Given the description of an element on the screen output the (x, y) to click on. 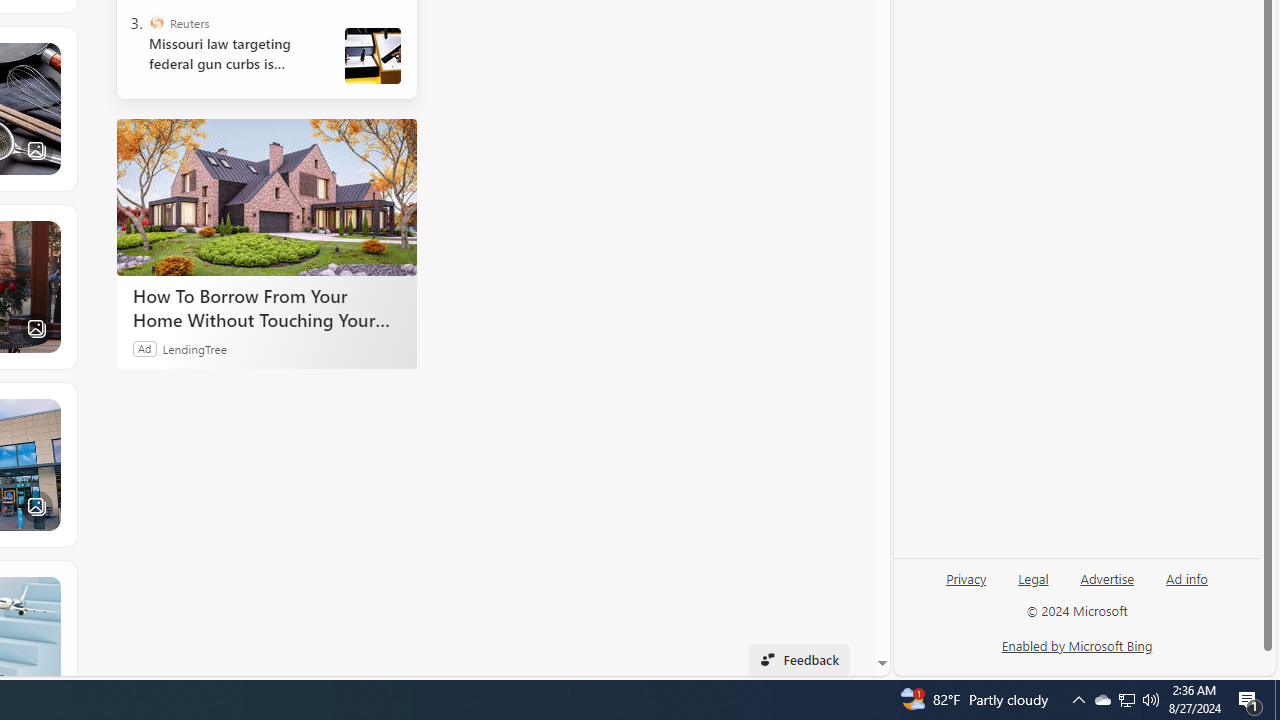
Privacy (965, 577)
Privacy (966, 586)
Reuters (156, 22)
